Given the description of an element on the screen output the (x, y) to click on. 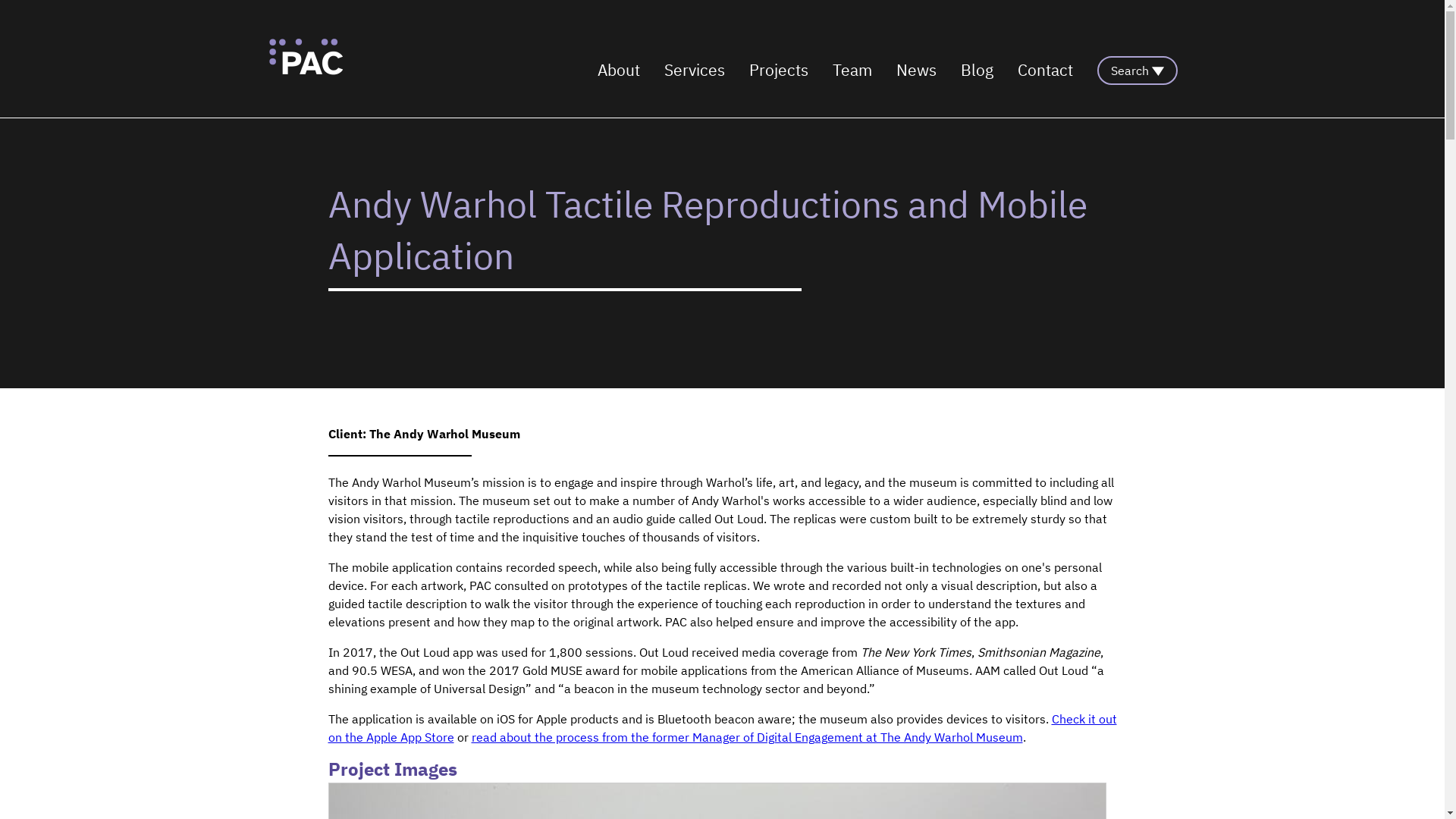
News Element type: text (916, 70)
Skip to Content Element type: text (266, 36)
Services Element type: text (694, 70)
Blog Element type: text (976, 70)
Team Element type: text (852, 70)
Check it out on the Apple App Store Element type: text (721, 727)
About Element type: text (618, 70)
Search Element type: text (1136, 70)
Projects Element type: text (778, 70)
Contact Element type: text (1045, 70)
